Given the description of an element on the screen output the (x, y) to click on. 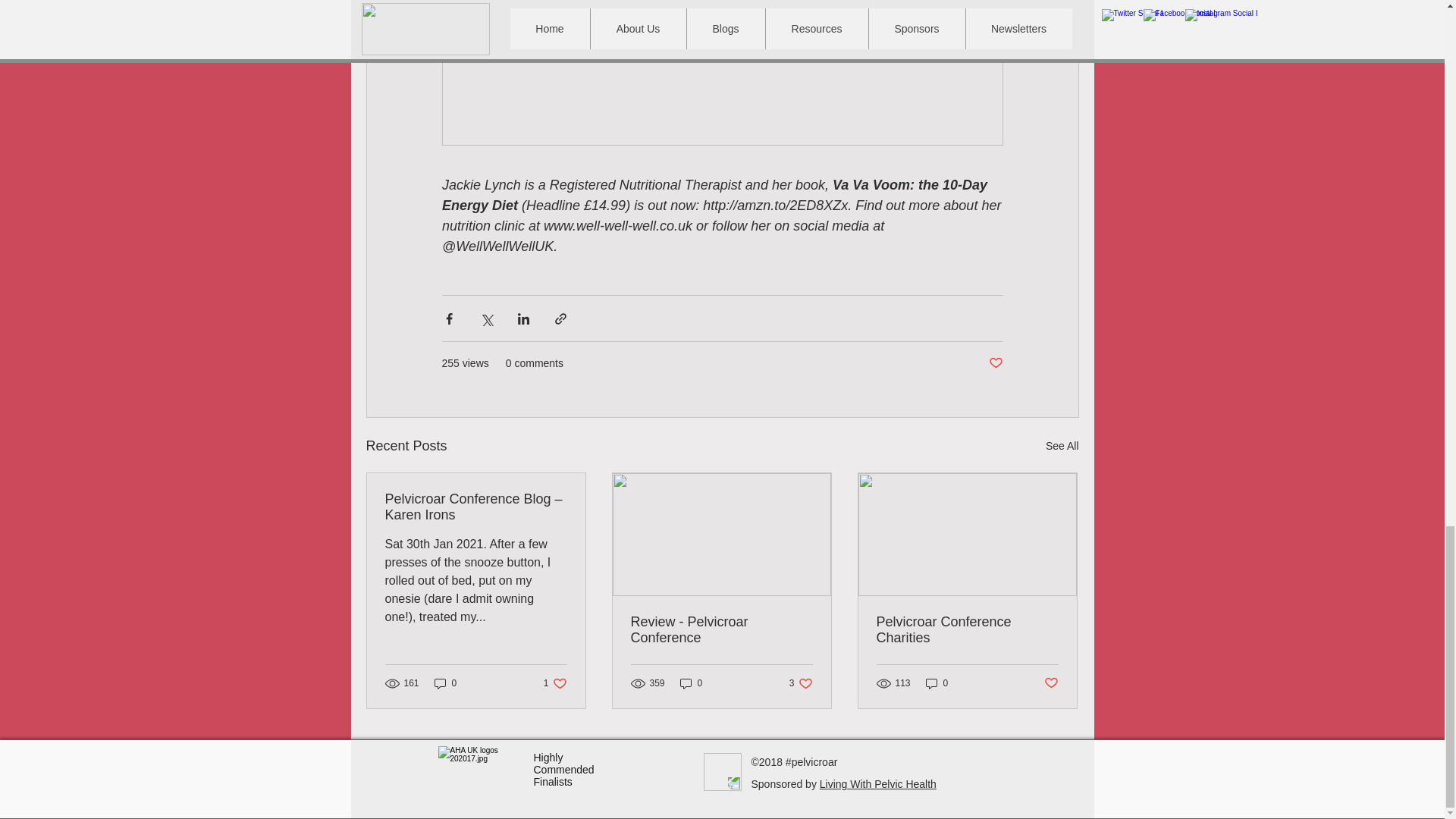
See All (1061, 445)
www.well-well-well.co.uk (618, 225)
Post not marked as liked (995, 363)
